Given the description of an element on the screen output the (x, y) to click on. 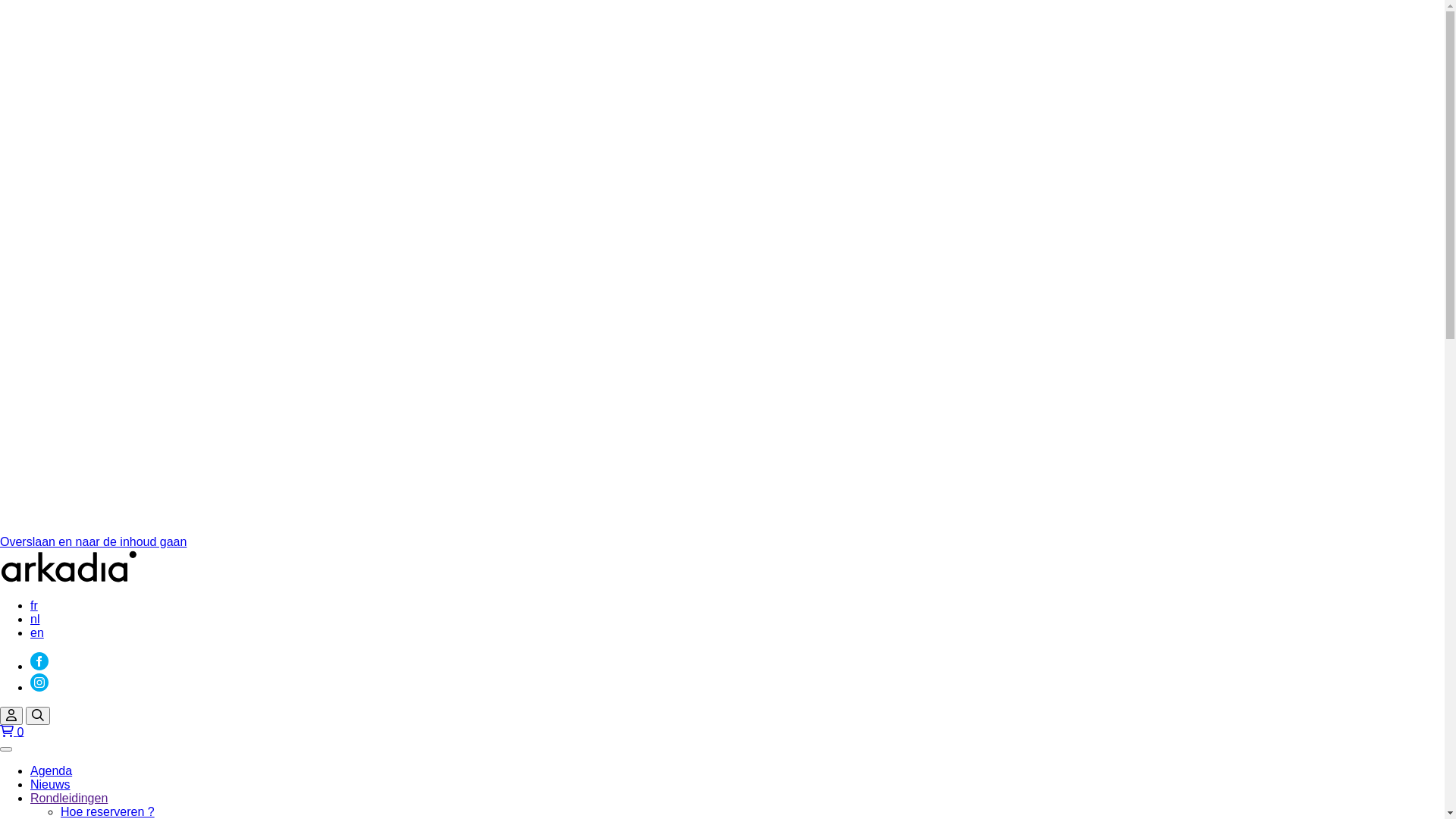
Arcadia Element type: text (69, 579)
Hoe reserveren ? Element type: text (107, 811)
Facebook van Arkadia" Element type: text (39, 665)
Agenda Element type: text (51, 770)
Nieuws Element type: text (49, 784)
en Element type: text (36, 632)
Rondleidingen Element type: text (68, 797)
Overslaan en naar de inhoud gaan Element type: text (93, 541)
Inloggen Element type: hover (11, 715)
0 Element type: text (722, 731)
nl Element type: text (34, 618)
fr Element type: text (33, 605)
Zoeken Element type: hover (37, 715)
Instagram van Arkadia" Element type: text (39, 686)
